Given the description of an element on the screen output the (x, y) to click on. 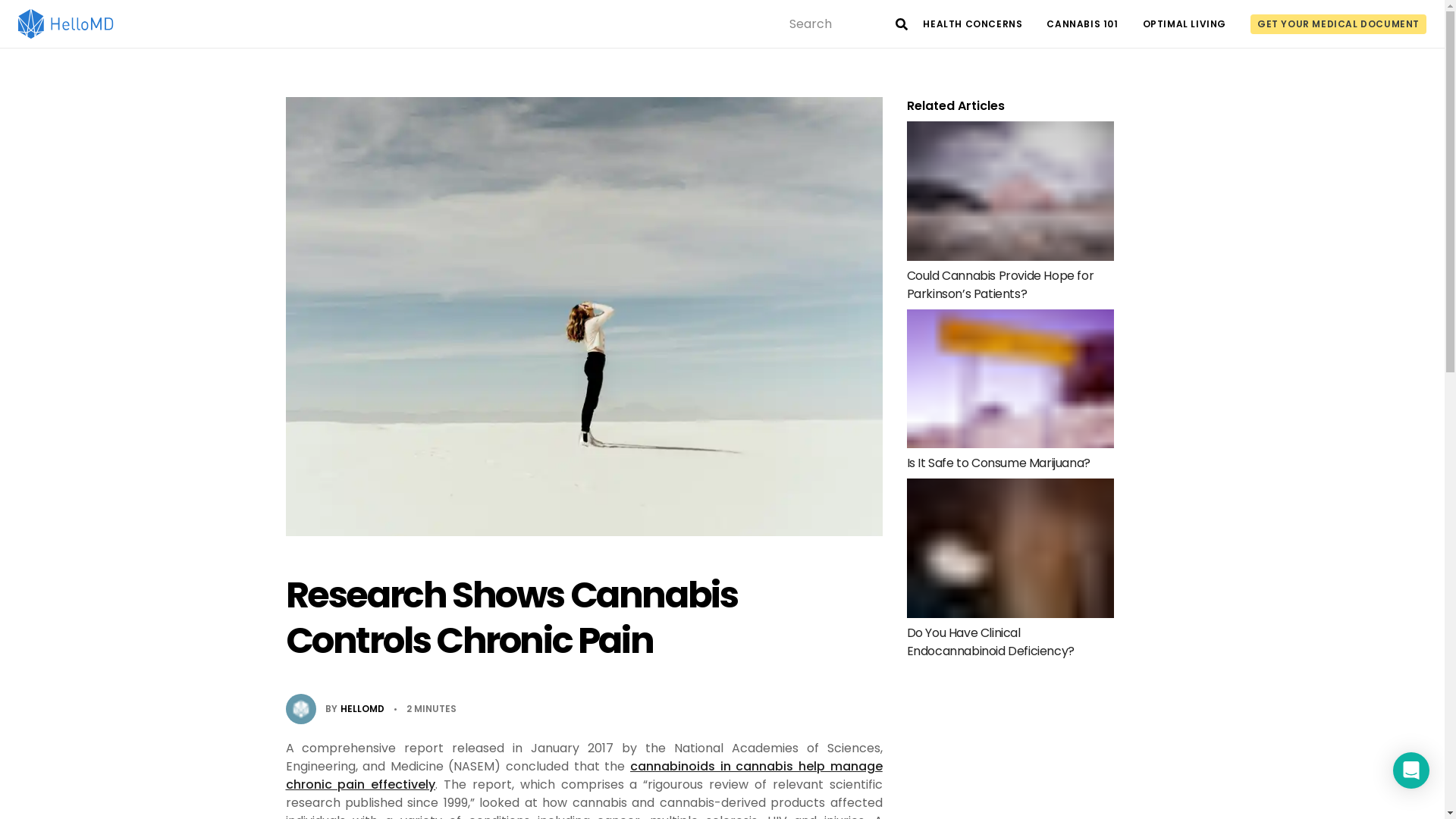
HelloMD (66, 24)
HelloMD (66, 24)
